Given the description of an element on the screen output the (x, y) to click on. 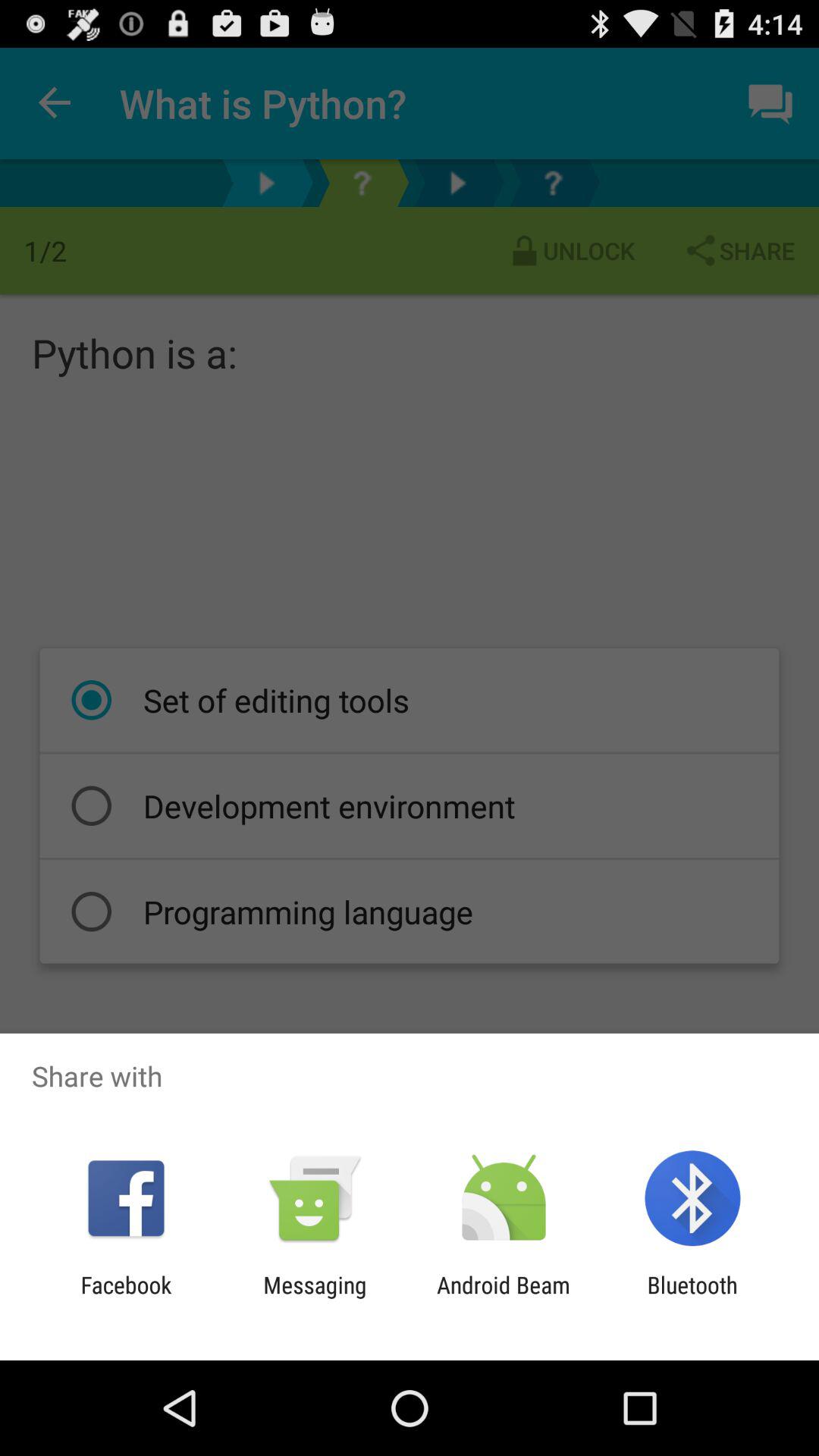
launch app to the left of the android beam icon (314, 1298)
